Given the description of an element on the screen output the (x, y) to click on. 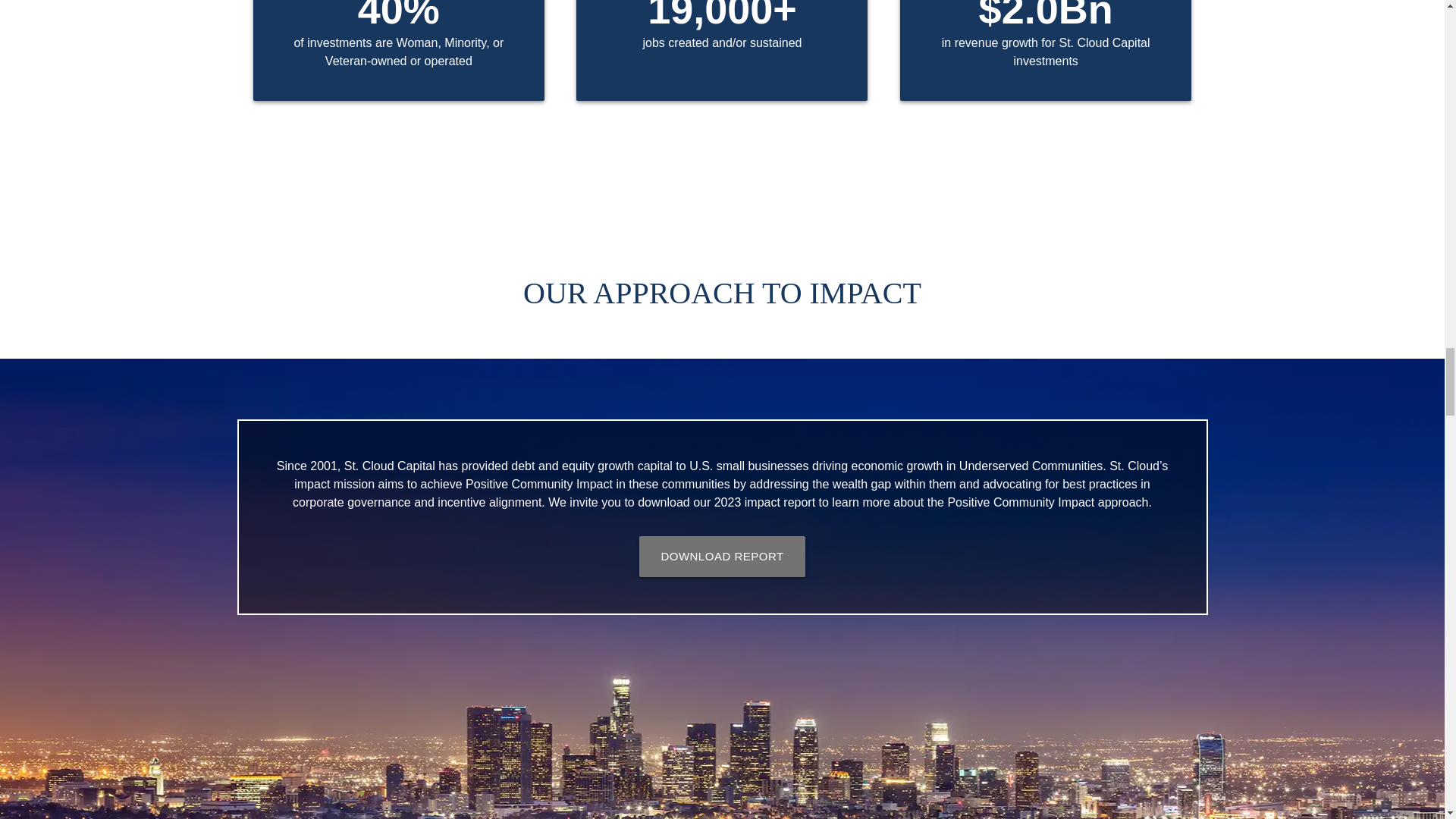
DOWNLOAD REPORT (722, 556)
